Given the description of an element on the screen output the (x, y) to click on. 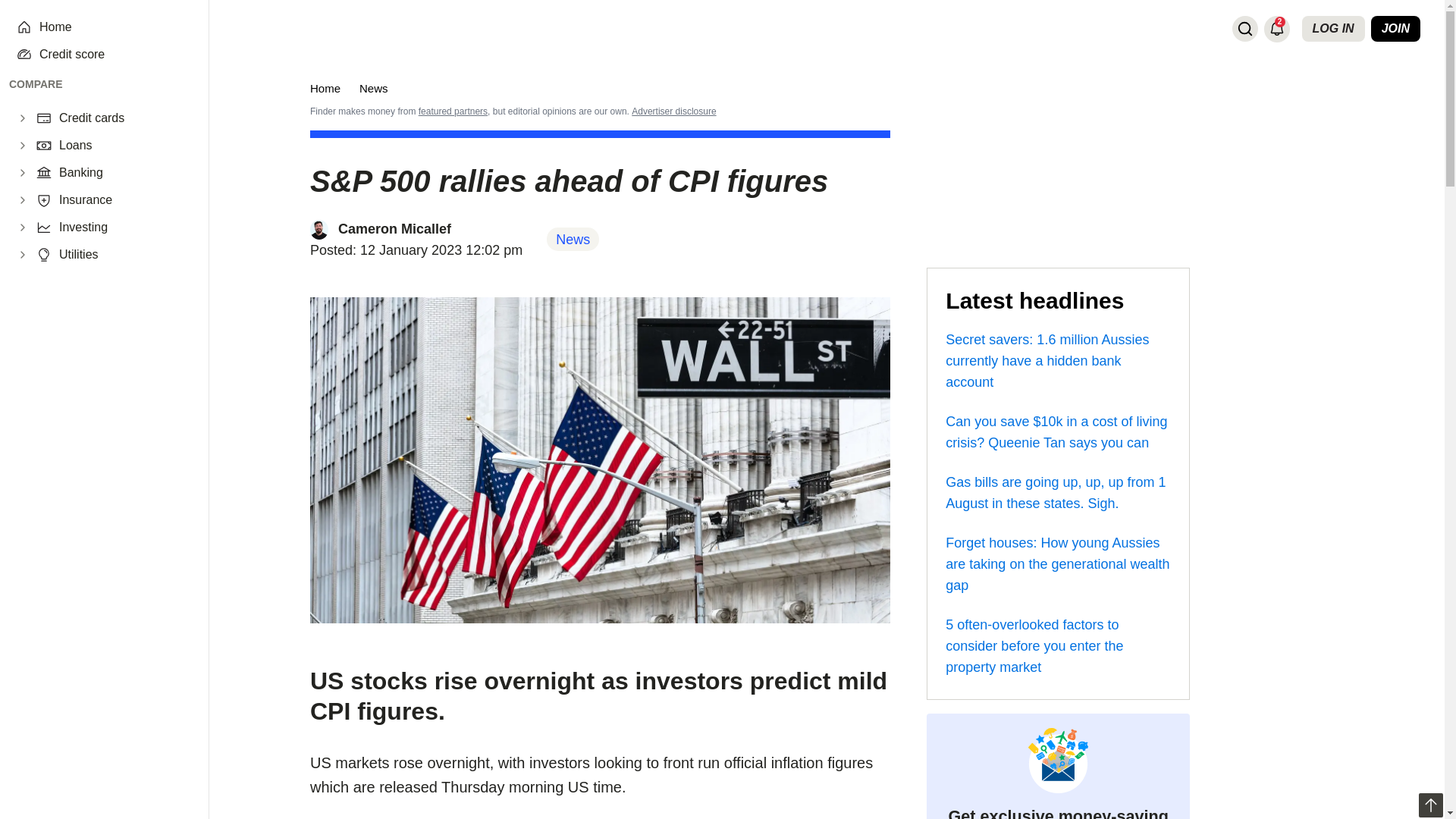
Important information about this website (673, 110)
Credit score (114, 54)
Home (114, 27)
Credit cards (124, 117)
Loans (124, 145)
Back to Top (1430, 805)
